Given the description of an element on the screen output the (x, y) to click on. 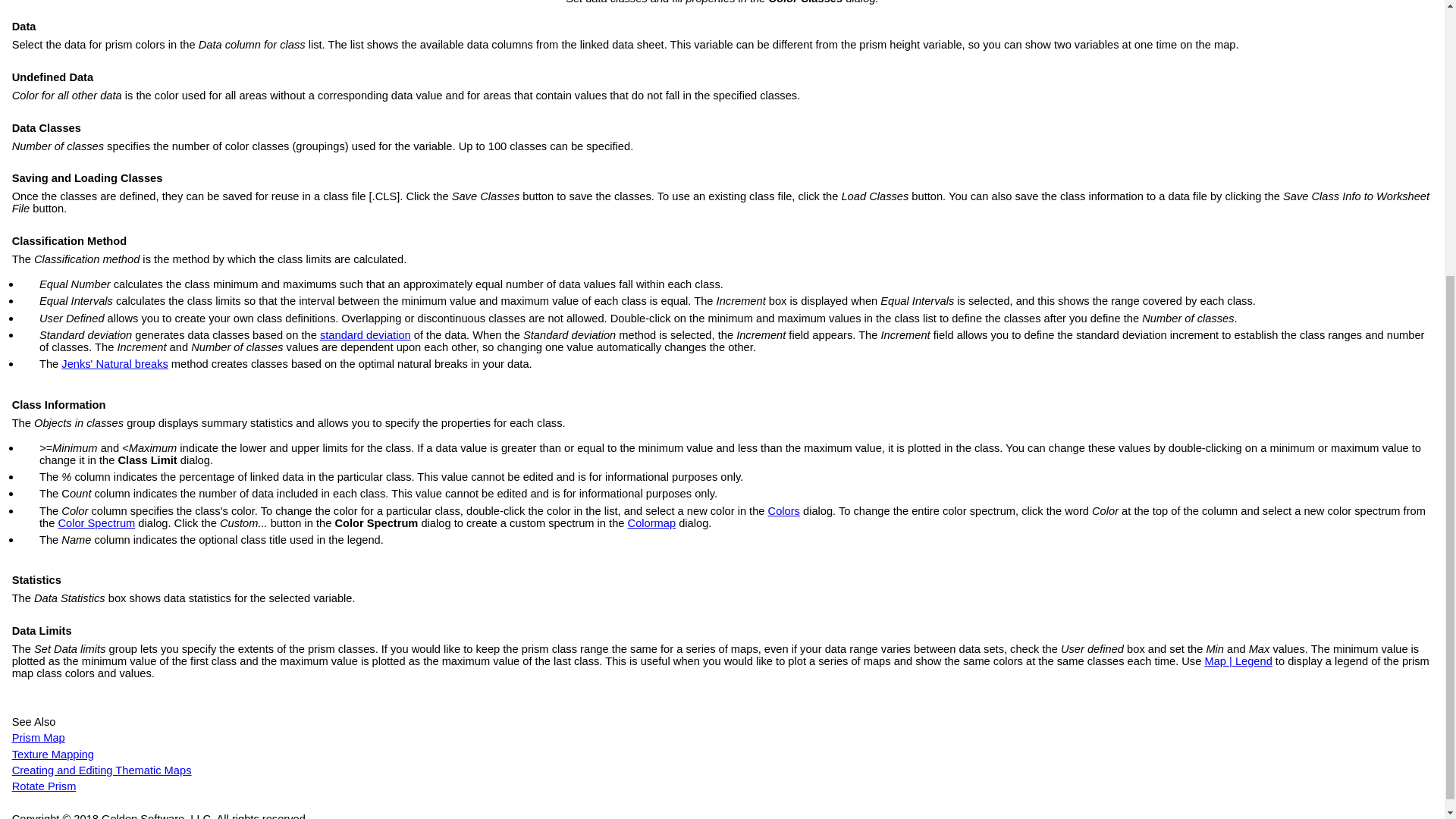
Color Spectrum (96, 522)
Colors (783, 510)
Colormap (652, 522)
Rotate Prism (44, 786)
Prism Map (38, 737)
Jenks' Natural breaks (114, 363)
Texture Mapping (52, 754)
standard deviation (365, 335)
Creating and Editing Thematic Maps (101, 770)
